Given the description of an element on the screen output the (x, y) to click on. 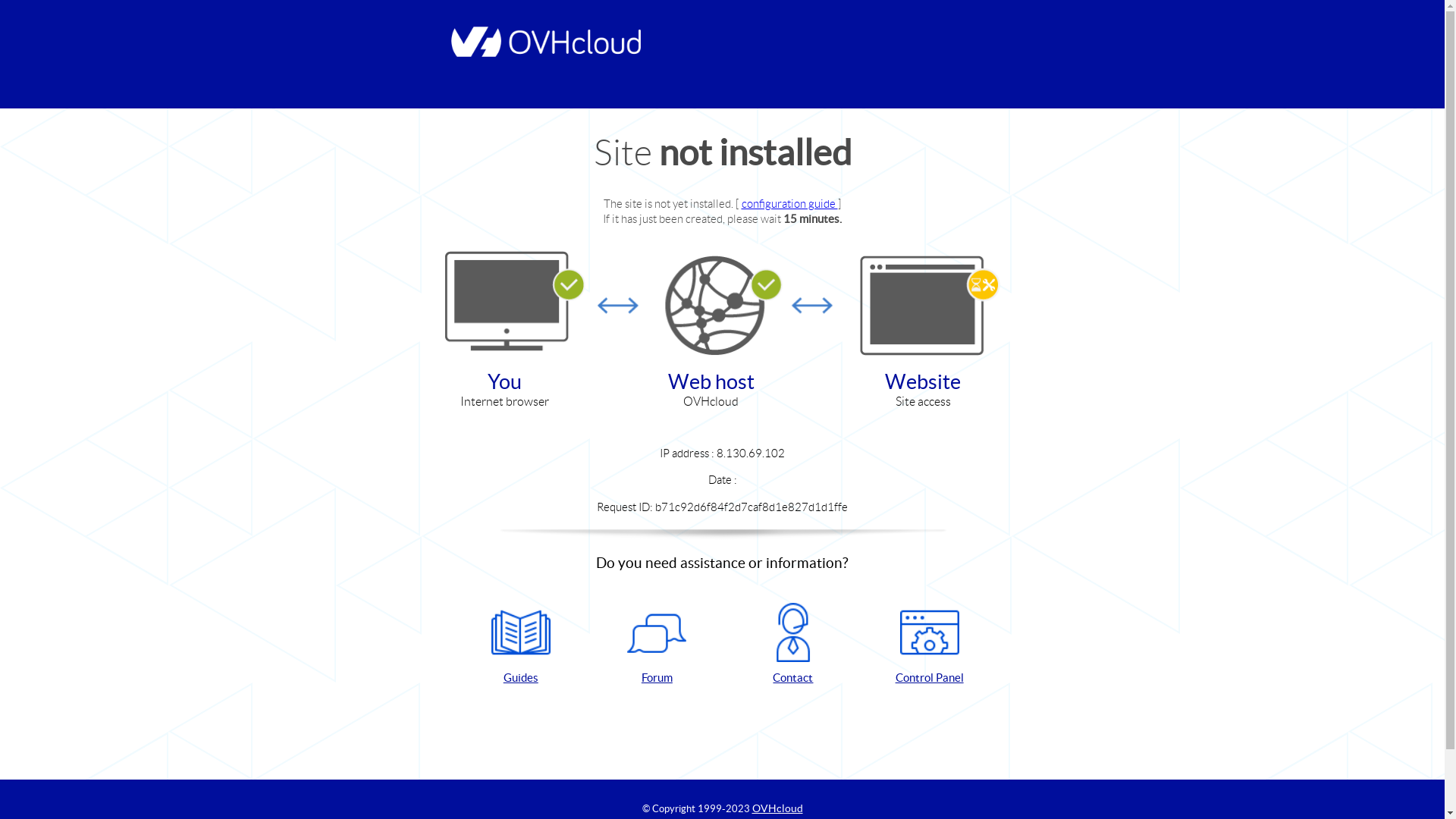
configuration guide Element type: text (789, 203)
Control Panel Element type: text (929, 644)
Forum Element type: text (656, 644)
Contact Element type: text (792, 644)
OVHcloud Element type: text (777, 808)
Guides Element type: text (520, 644)
